Given the description of an element on the screen output the (x, y) to click on. 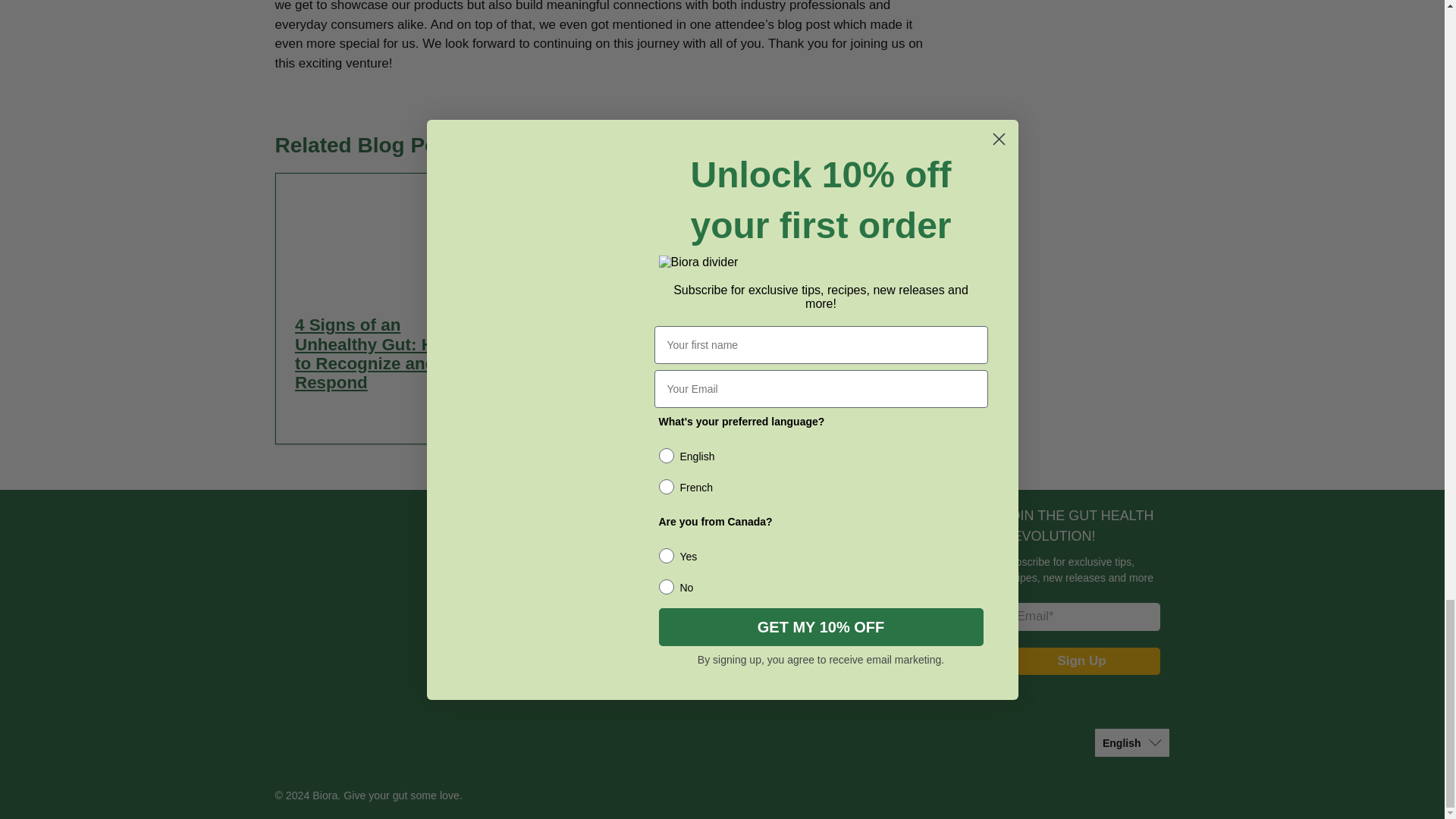
Does Kombucha Help with Bloating? (828, 333)
4 Signs of an Unhealthy Gut: How to Recognize and Respond (381, 234)
4 Signs of an Unhealthy Gut: How to Recognize and Respond (376, 353)
Does Kombucha Help with Bloating? (835, 234)
